Given the description of an element on the screen output the (x, y) to click on. 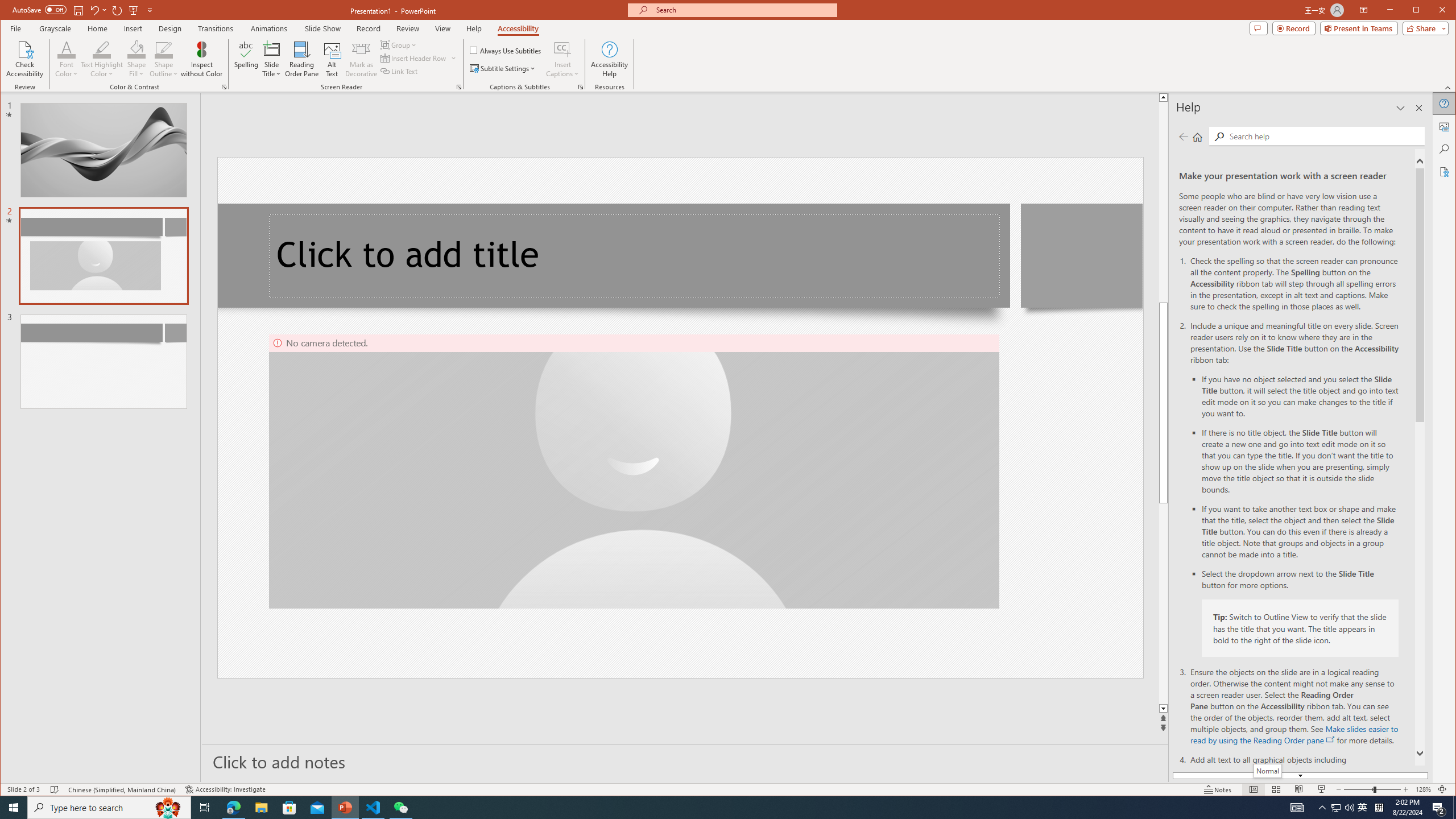
Font Color (66, 48)
Inspect without Color (201, 59)
Line up (1162, 96)
Redo (117, 9)
Normal (1253, 789)
Animations (269, 28)
File Explorer (261, 807)
Reading View (1298, 789)
Screen Reader (458, 86)
Tray Input Indicator - Chinese (Simplified, China) (1378, 807)
Slide (103, 361)
Insert Header Row (418, 57)
PowerPoint - 1 running window (345, 807)
